Given the description of an element on the screen output the (x, y) to click on. 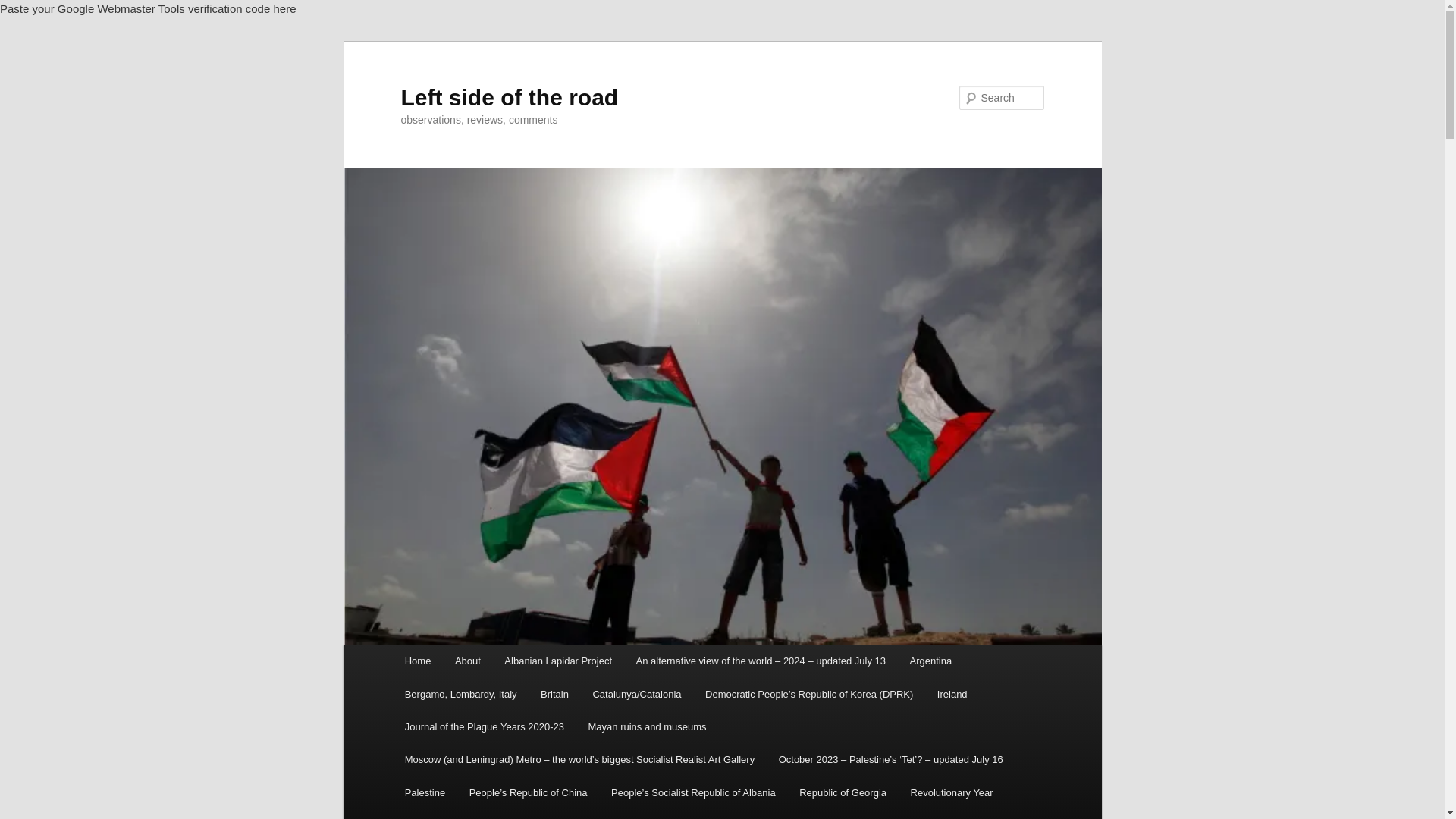
About (467, 660)
Sailing on a tall ship (448, 814)
Britain (553, 694)
Bergamo, Lombardy, Italy (460, 694)
Ireland (951, 694)
Republic of Georgia (842, 792)
Home (417, 660)
Palestine (425, 792)
Left side of the road (508, 97)
Mayan ruins and museums (647, 726)
Argentina (930, 660)
The Peruvian Revolution (775, 814)
Revolutionary Year (952, 792)
Search (24, 8)
